Given the description of an element on the screen output the (x, y) to click on. 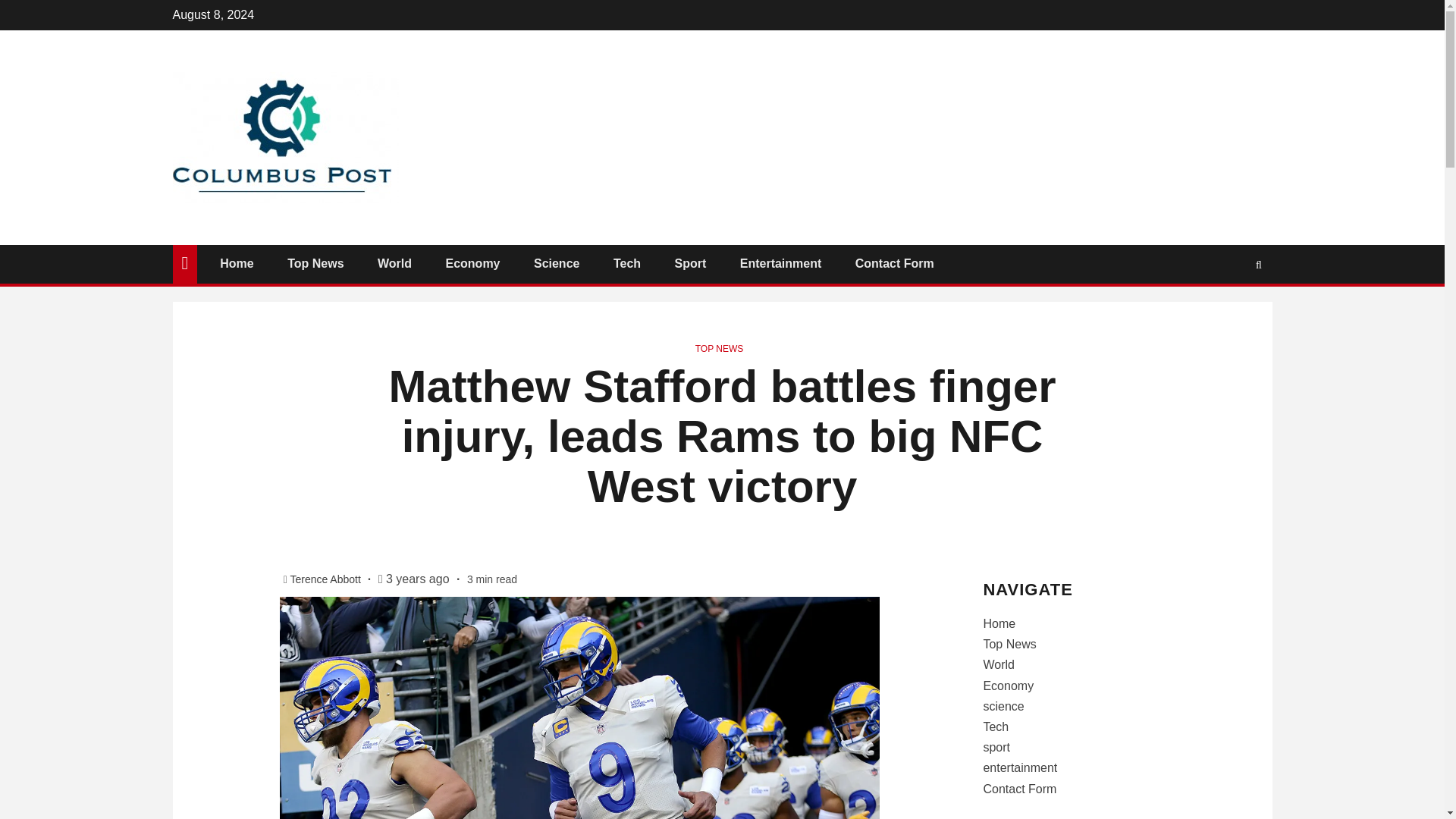
Economy (472, 263)
World (394, 263)
Tech (626, 263)
Entertainment (780, 263)
Terence Abbott (325, 579)
Home (236, 263)
Search (1229, 309)
Science (556, 263)
Top News (314, 263)
